Given the description of an element on the screen output the (x, y) to click on. 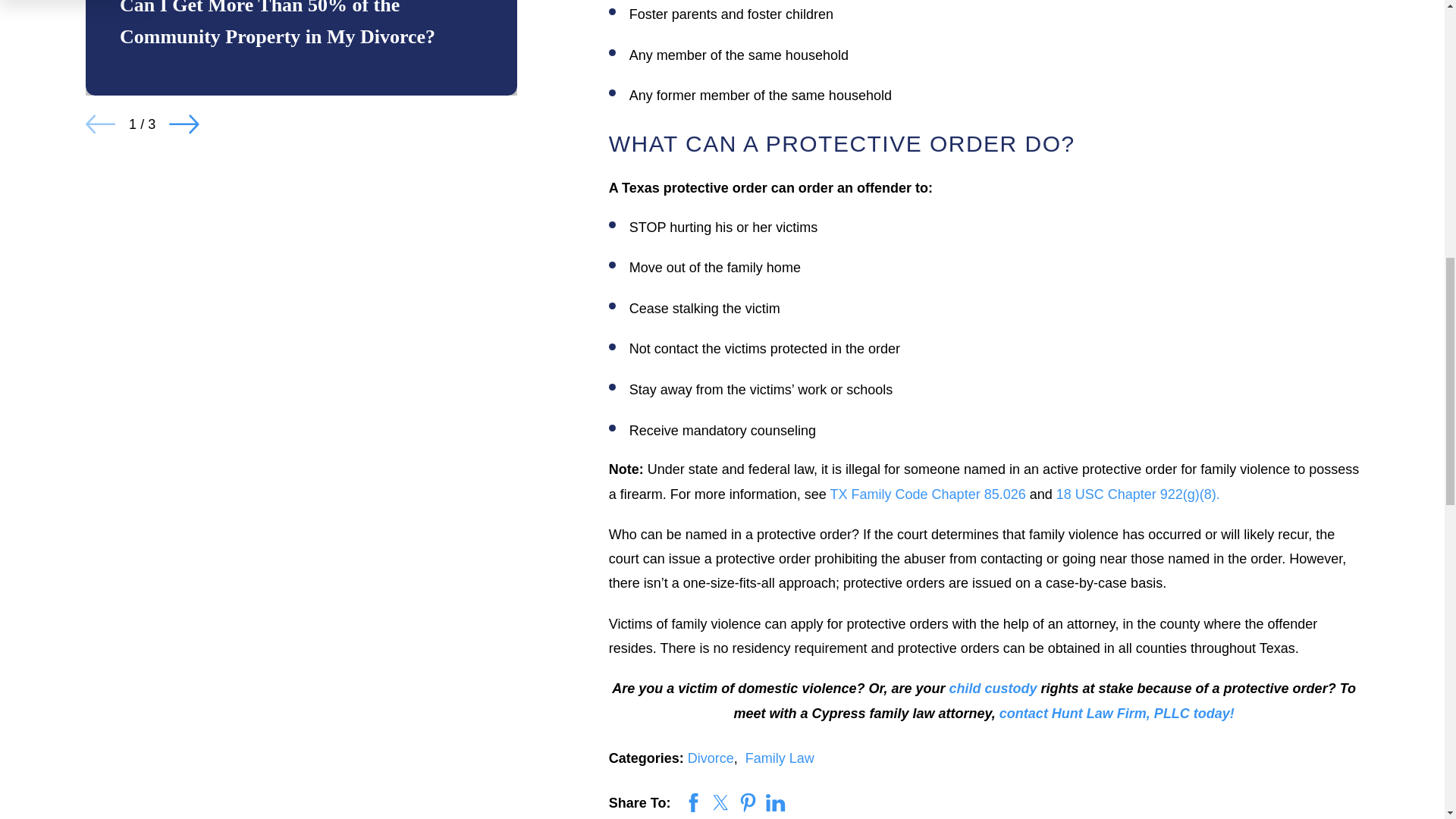
View previous item (100, 123)
View next item (183, 123)
